Given the description of an element on the screen output the (x, y) to click on. 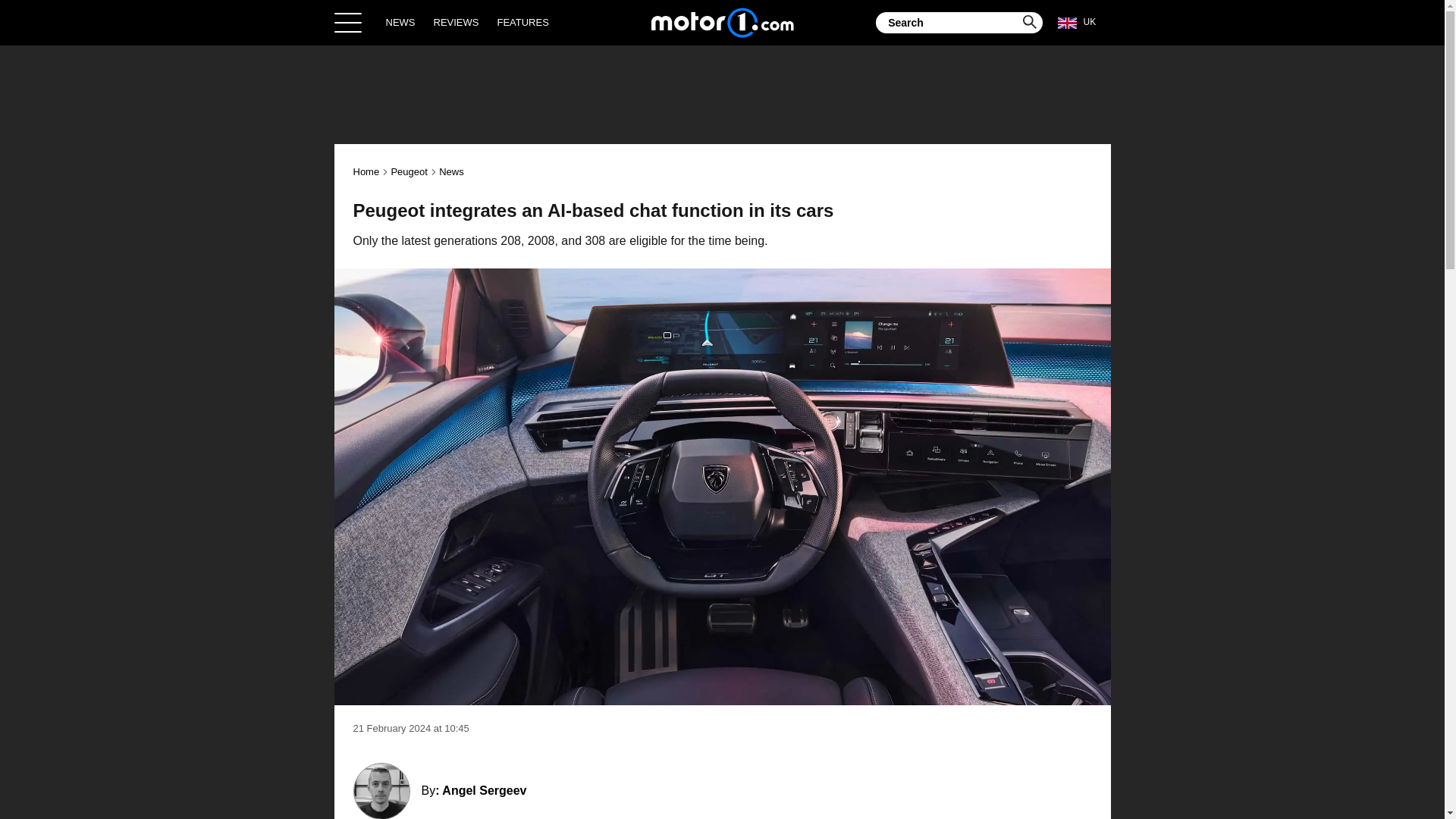
FEATURES (522, 22)
News (451, 171)
Home (366, 171)
Home (721, 22)
Angel Sergeev (483, 789)
NEWS (399, 22)
Peugeot (408, 171)
REVIEWS (456, 22)
